Given the description of an element on the screen output the (x, y) to click on. 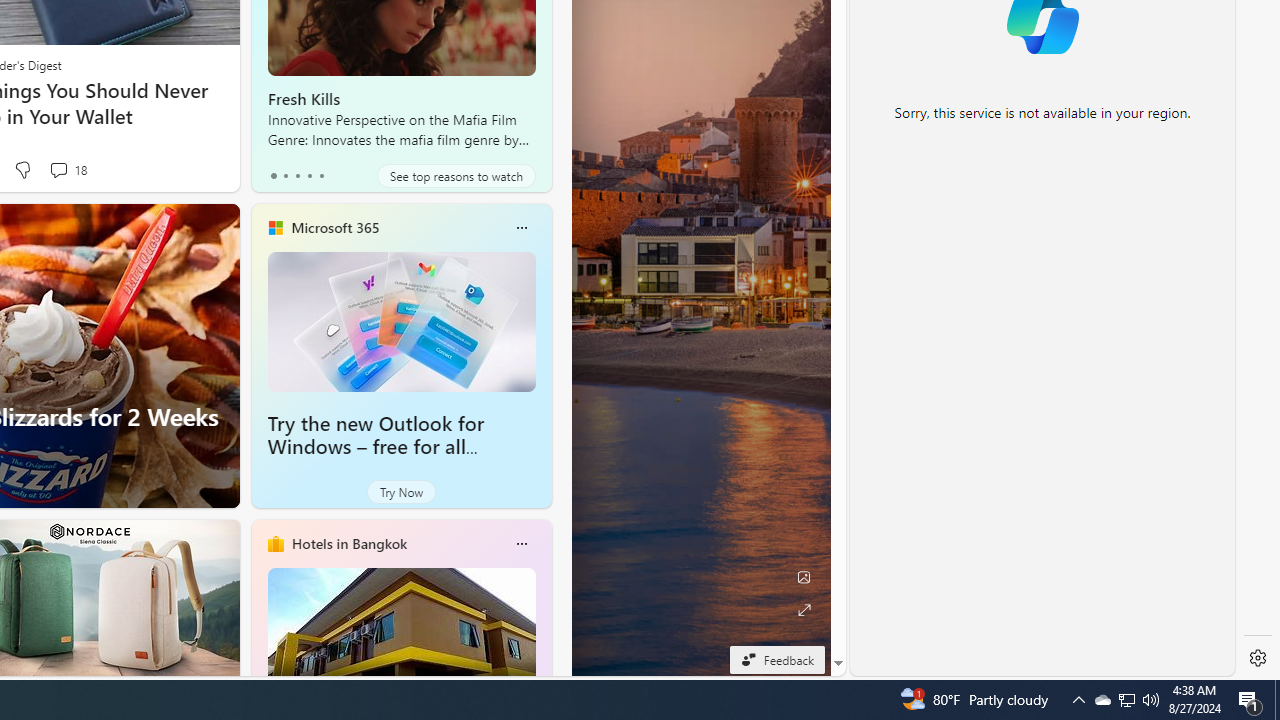
tab-2 (297, 175)
Edit Background (803, 577)
See top reasons to watch (456, 175)
tab-3 (309, 175)
View comments 18 Comment (66, 170)
View comments 18 Comment (58, 169)
